Given the description of an element on the screen output the (x, y) to click on. 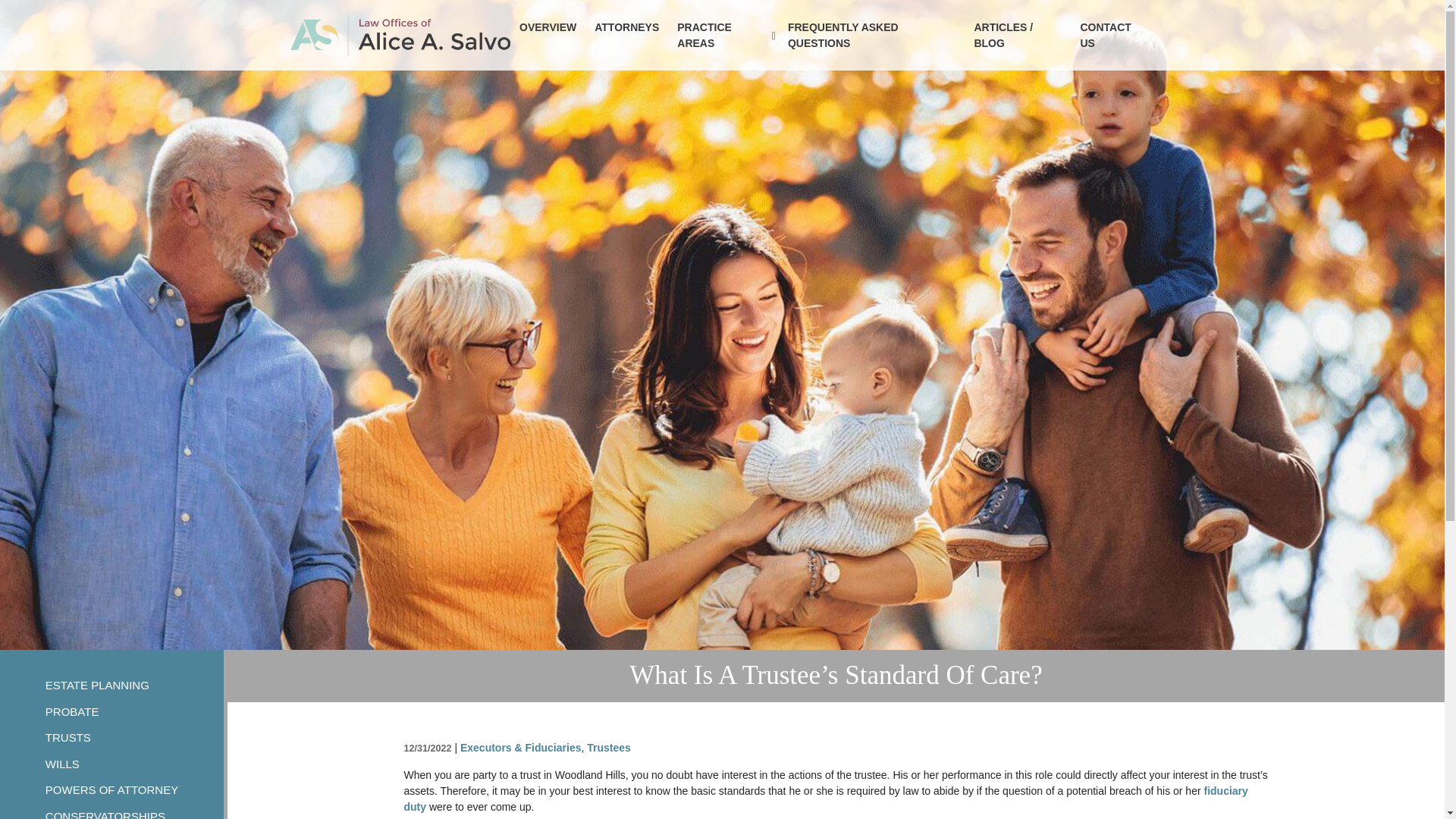
ATTORNEYS (626, 27)
CONTACT US (1112, 35)
PRACTICE AREAS (722, 35)
FREQUENTLY ASKED QUESTIONS (870, 35)
Back to Home (400, 35)
OVERVIEW (548, 27)
